Given the description of an element on the screen output the (x, y) to click on. 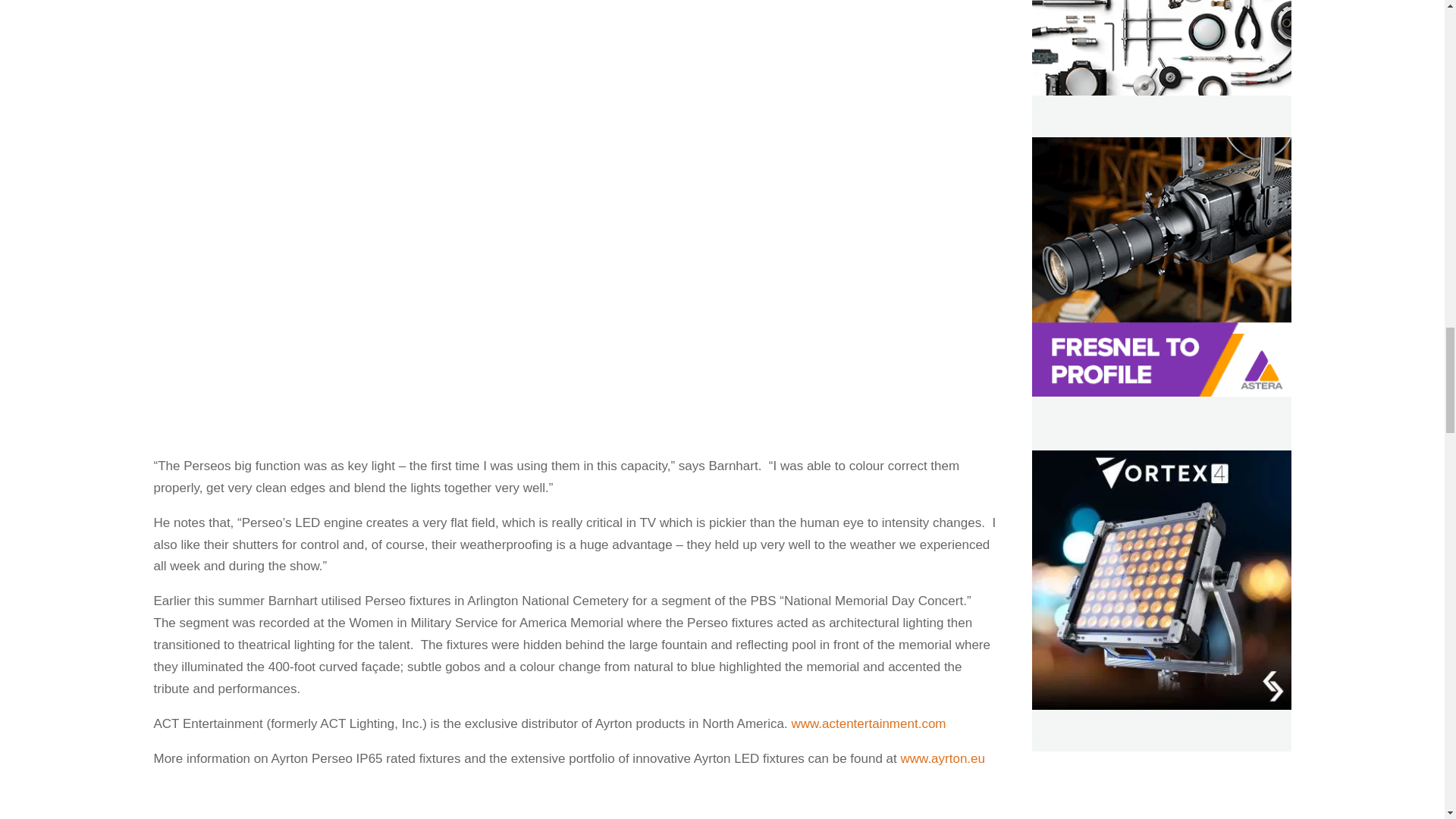
www.ayrton.eu (943, 758)
www.actentertainment.com (867, 723)
